Given the description of an element on the screen output the (x, y) to click on. 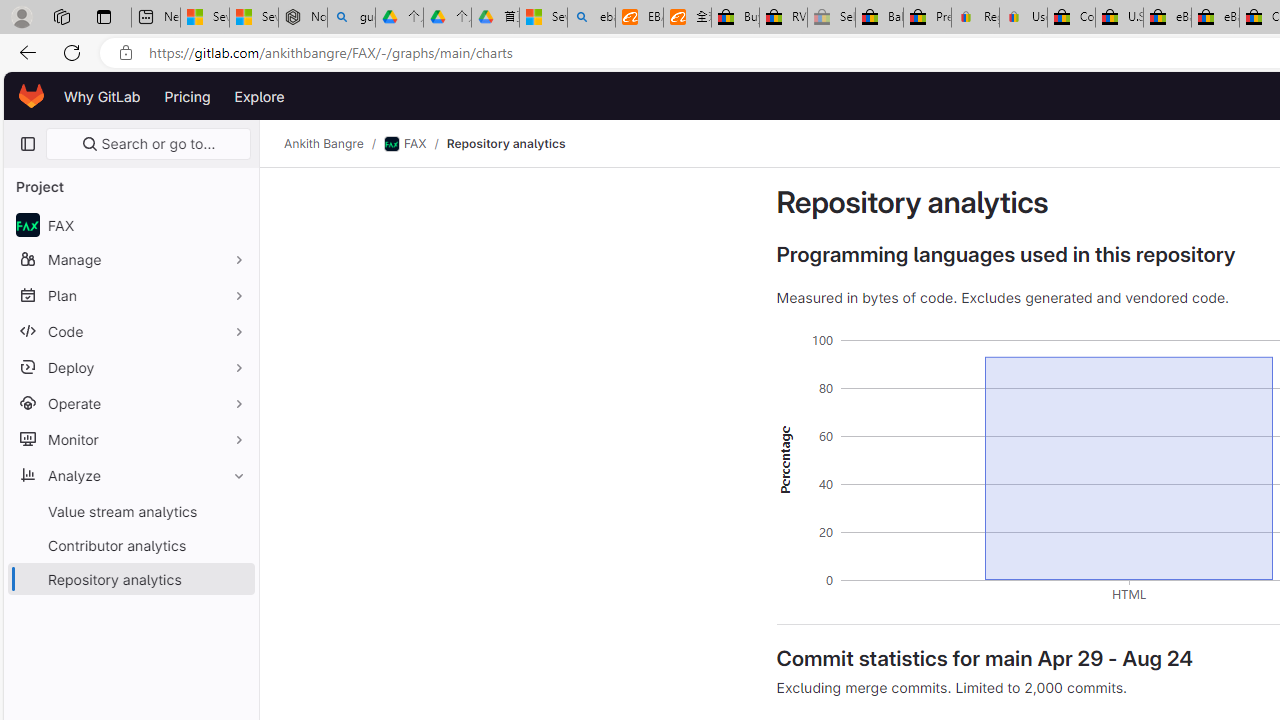
eBay Inc. Reports Third Quarter 2023 Results (1215, 17)
Why GitLab (102, 95)
Code (130, 331)
Deploy (130, 367)
Monitor (130, 439)
Code (130, 331)
Deploy (130, 367)
Primary navigation sidebar (27, 143)
Plan (130, 295)
Why GitLab (102, 95)
U.S. State Privacy Disclosures - eBay Inc. (1119, 17)
Ankith Bangre (323, 143)
